Given the description of an element on the screen output the (x, y) to click on. 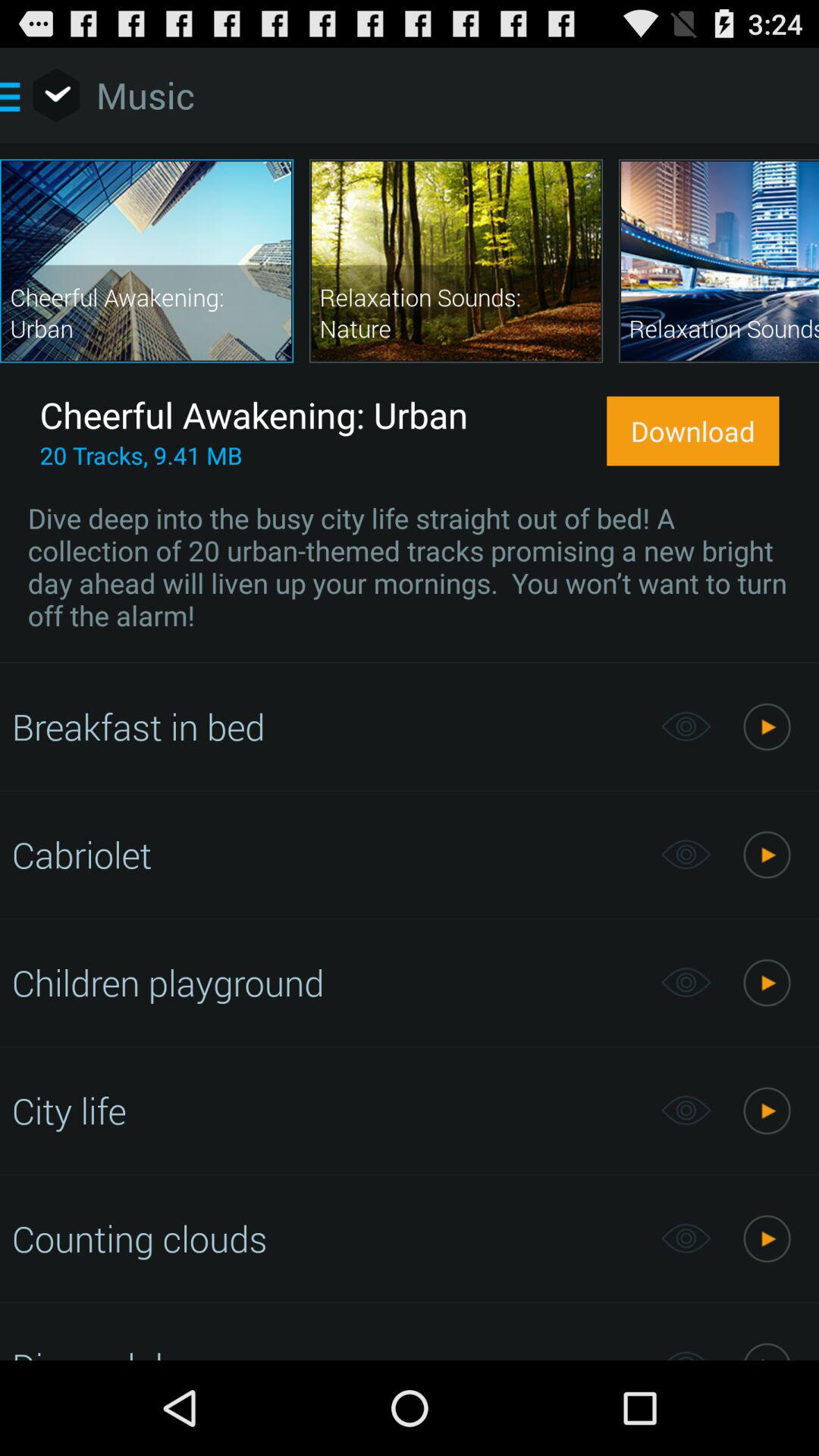
turn off the download button (692, 430)
